Given the description of an element on the screen output the (x, y) to click on. 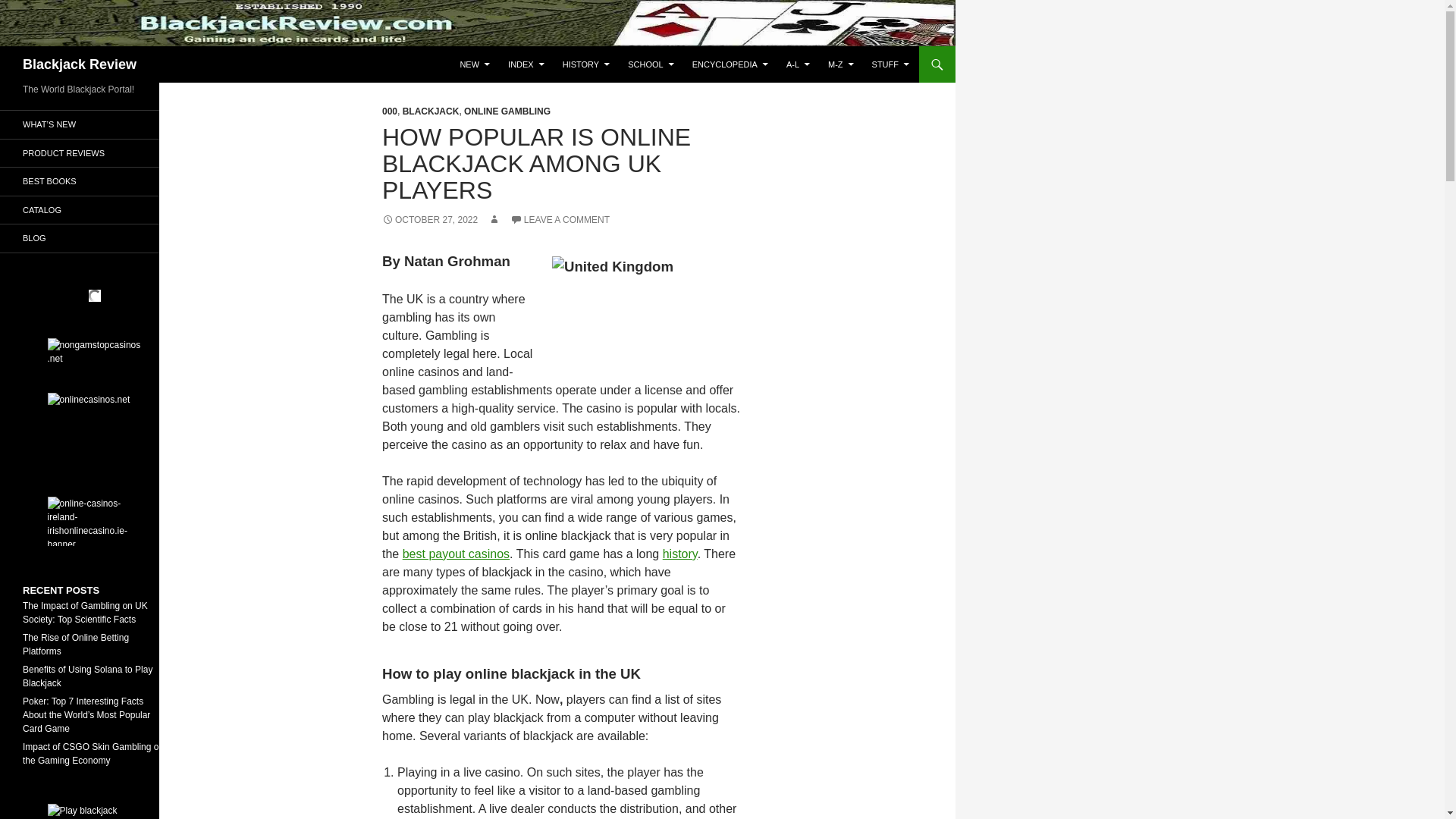
nongamstopcasinos.net (93, 362)
online-casinos-ireland-irishonlinecasino.ie-banner (93, 521)
onlinecasinos.net (93, 440)
Blackjack Review (79, 63)
INDEX (526, 63)
Play blackjack online at Betiton (93, 811)
SCHOOL (650, 63)
United Kingdom (646, 311)
HISTORY (586, 63)
NEW (474, 63)
